Given the description of an element on the screen output the (x, y) to click on. 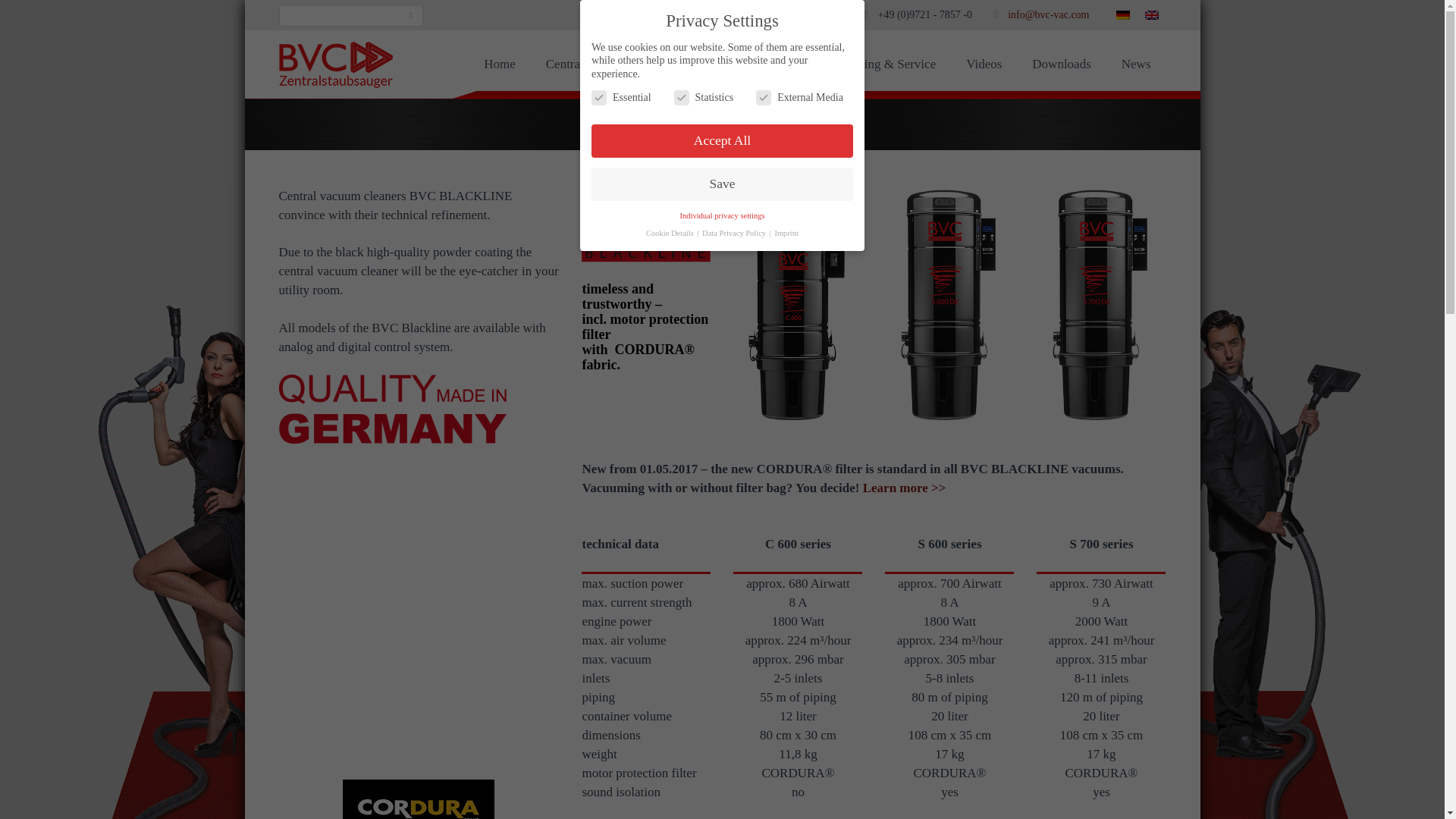
English (1151, 14)
Deutsch (1122, 14)
BVC BLACKLINE 1 (392, 408)
bvc-logo-blackline-wp (645, 224)
Home (499, 64)
Products (782, 64)
Central Vacuum Cleaner (609, 64)
BVC BLACKLINE 2 (418, 799)
Search (411, 15)
